Given the description of an element on the screen output the (x, y) to click on. 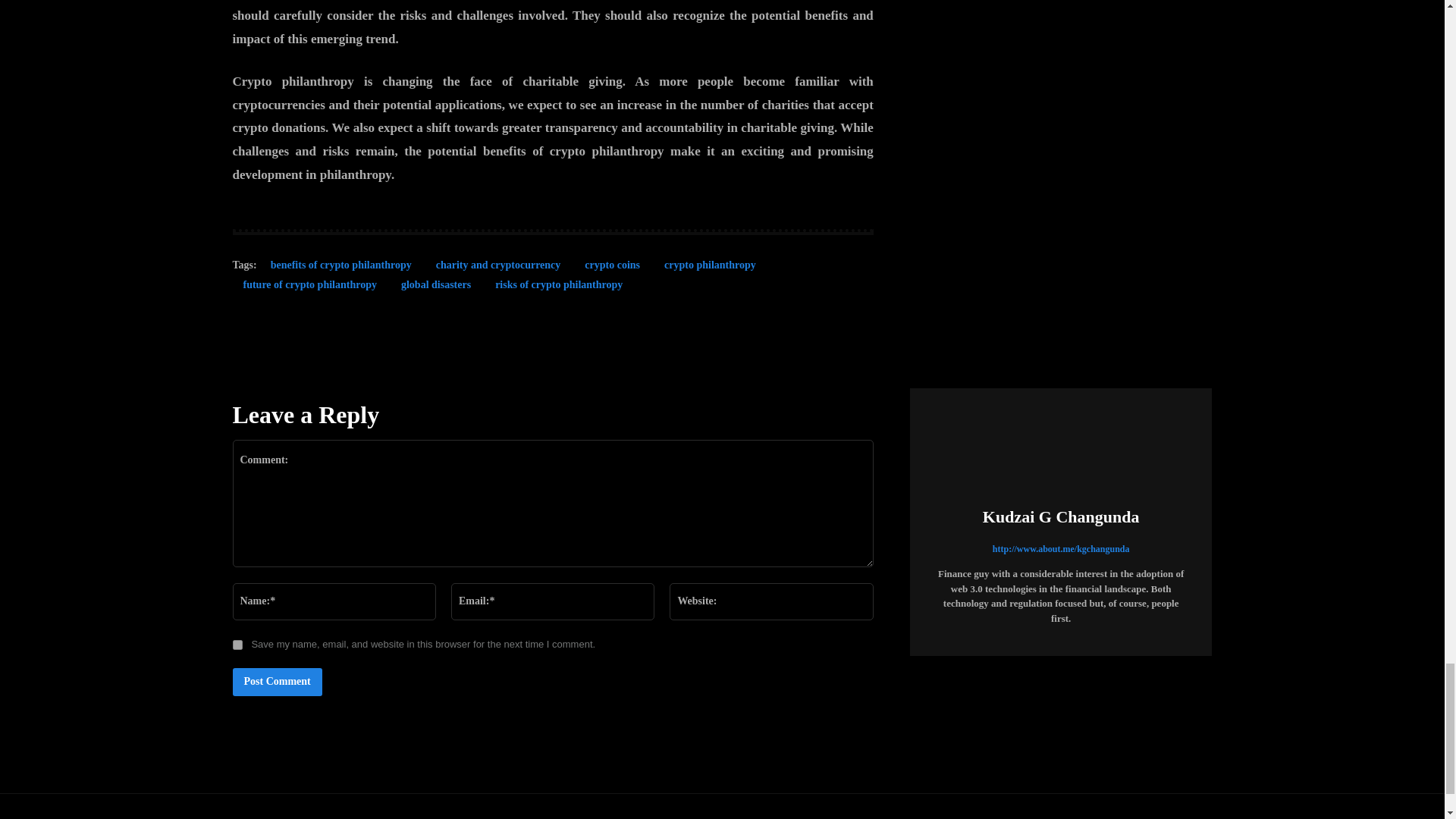
benefits of crypto philanthropy (341, 268)
risks of crypto philanthropy (558, 288)
yes (236, 644)
crypto philanthropy (710, 268)
future of crypto philanthropy (309, 288)
crypto coins (611, 268)
global disasters (435, 288)
Post Comment (276, 682)
charity and cryptocurrency (498, 268)
